Given the description of an element on the screen output the (x, y) to click on. 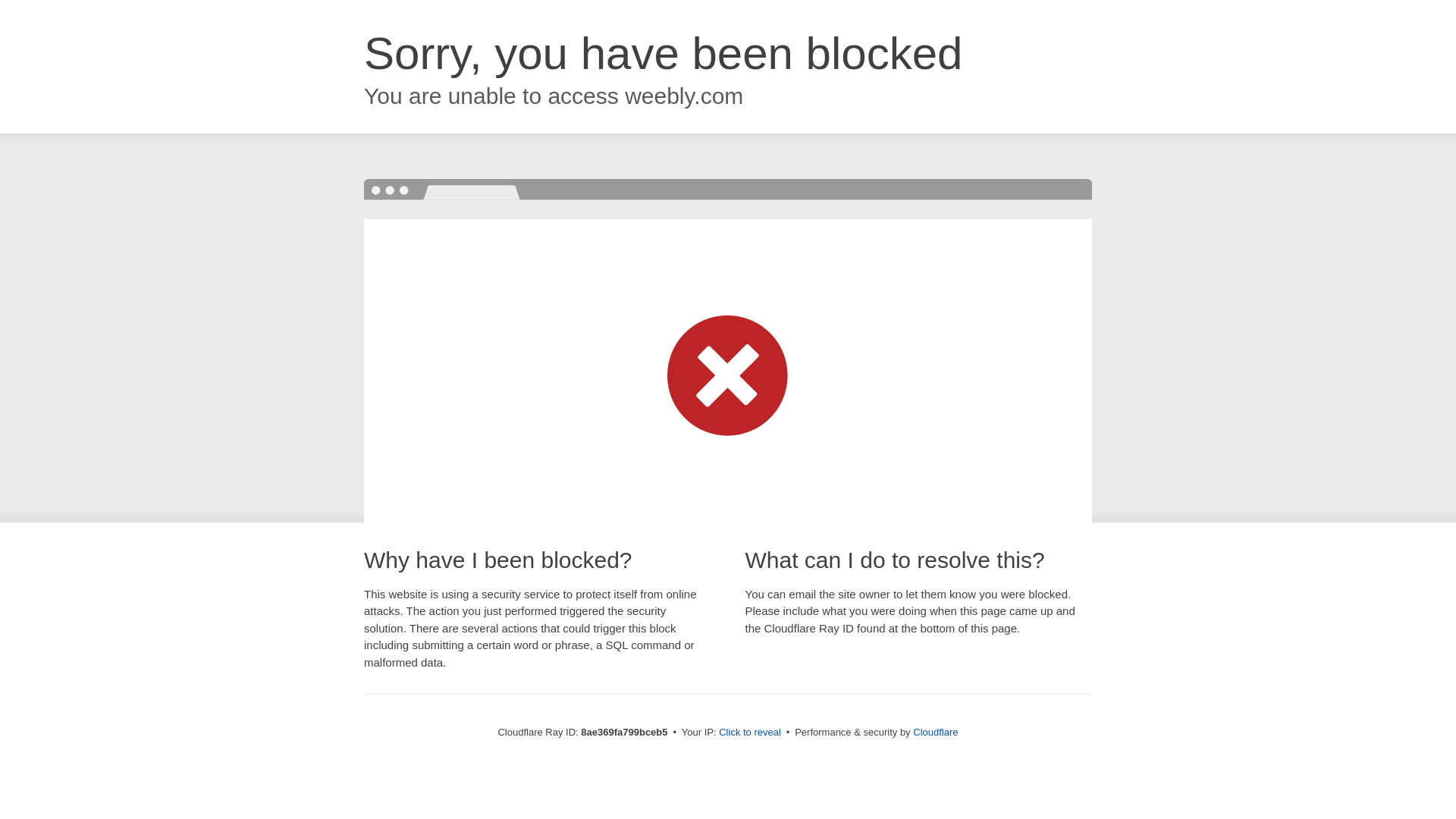
Cloudflare (935, 731)
Click to reveal (749, 732)
